Given the description of an element on the screen output the (x, y) to click on. 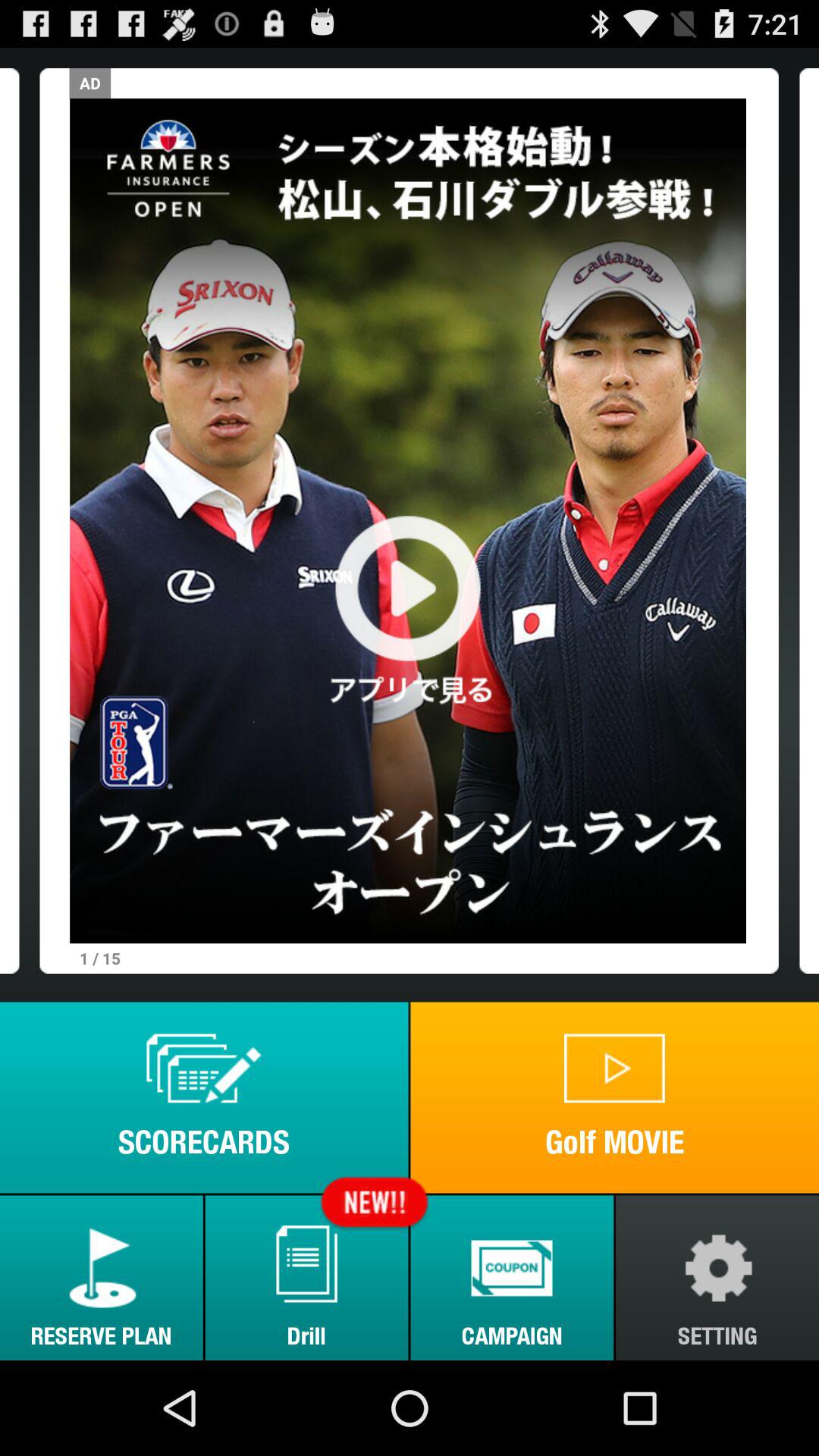
choose the icon to the right of drill button (511, 1277)
